Given the description of an element on the screen output the (x, y) to click on. 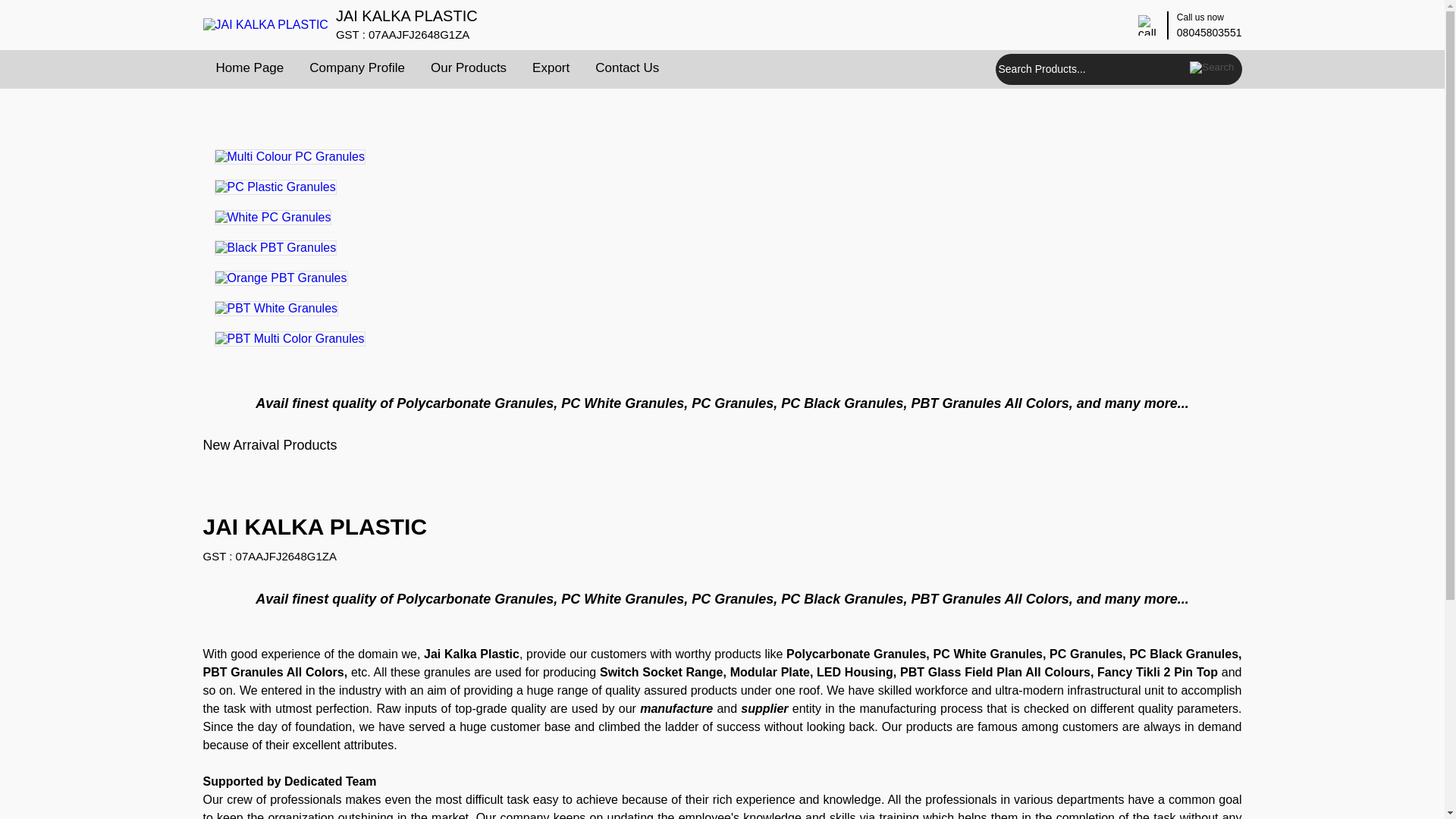
submit (1211, 66)
Contact Us (626, 67)
Our Products (468, 67)
Home Page (250, 67)
White PC Granules (272, 217)
Black PBT Granules (275, 247)
Search (1211, 66)
PBT Multi Color Granules (289, 338)
Orange PBT Granules (280, 278)
PC Plastic Granules (275, 186)
Export (550, 67)
Multi Colour PC Granules (289, 156)
PBT White Granules (275, 308)
Search Products... (1089, 69)
Search Products... (1089, 69)
